Given the description of an element on the screen output the (x, y) to click on. 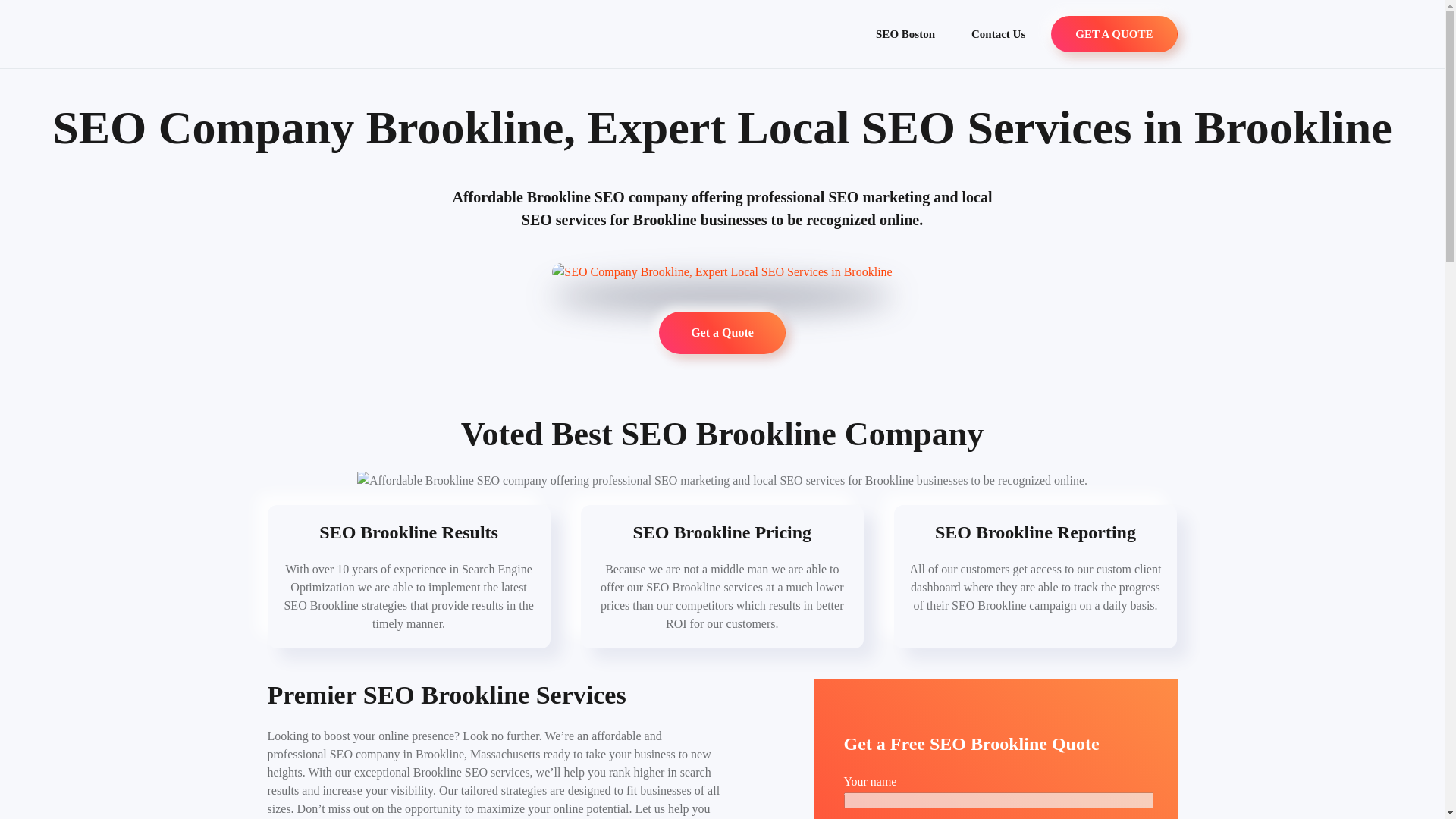
Get a Quote (722, 332)
get SEO quote (1113, 33)
Contact Us (997, 33)
Premier SEO Brookline Services (446, 694)
SEO Boston (904, 33)
GET A QUOTE (1113, 33)
